Given the description of an element on the screen output the (x, y) to click on. 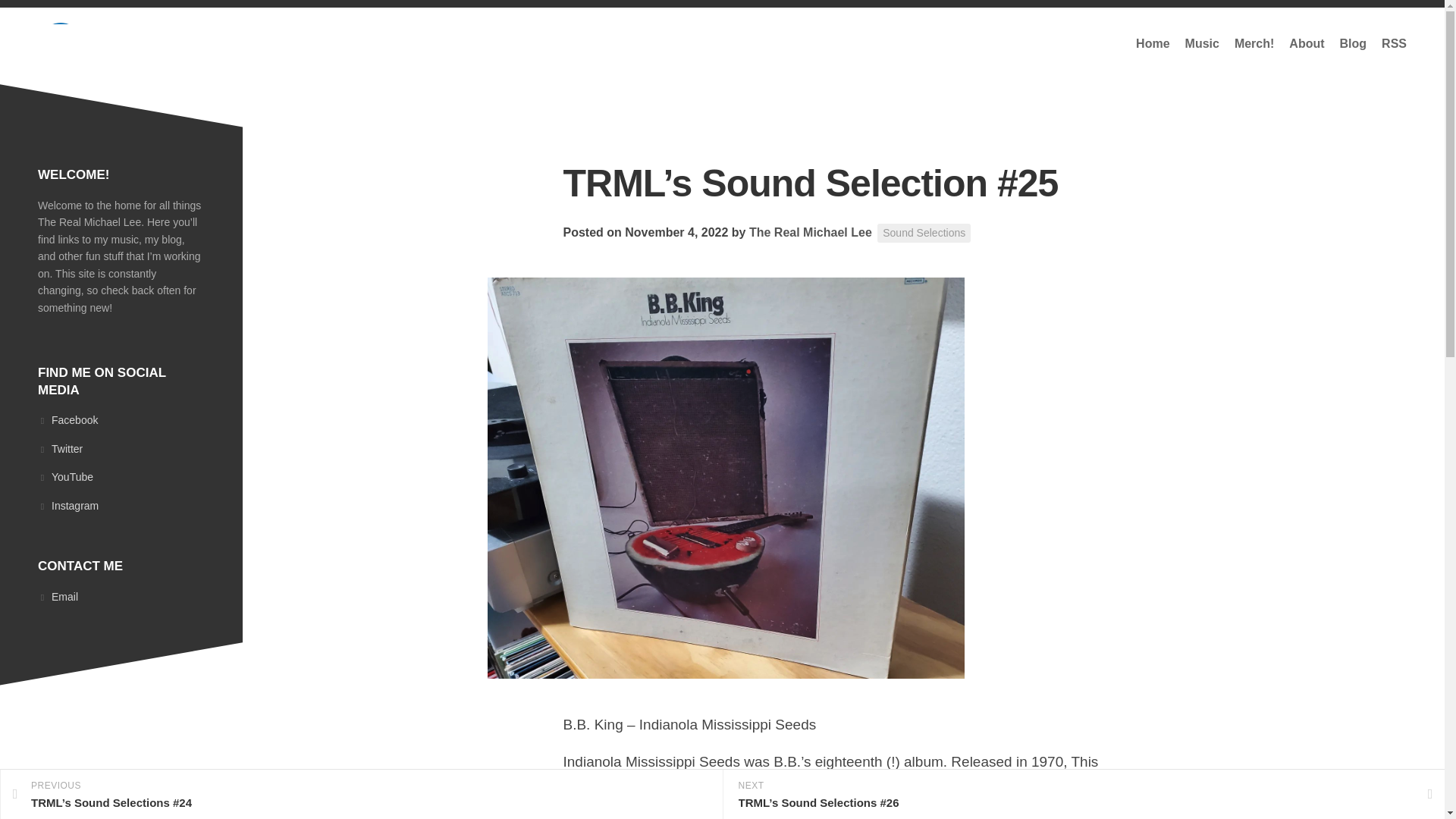
The Real Michael Lee (810, 232)
About (1305, 43)
RSS (1393, 43)
Home (1152, 43)
Music (1202, 43)
Twitter (121, 449)
Email (121, 596)
Sound Selections (924, 232)
YouTube (121, 477)
Facebook (121, 420)
Posts by The Real Michael Lee (810, 232)
Blog (1353, 43)
Merch! (1254, 43)
Instagram (121, 505)
